Given the description of an element on the screen output the (x, y) to click on. 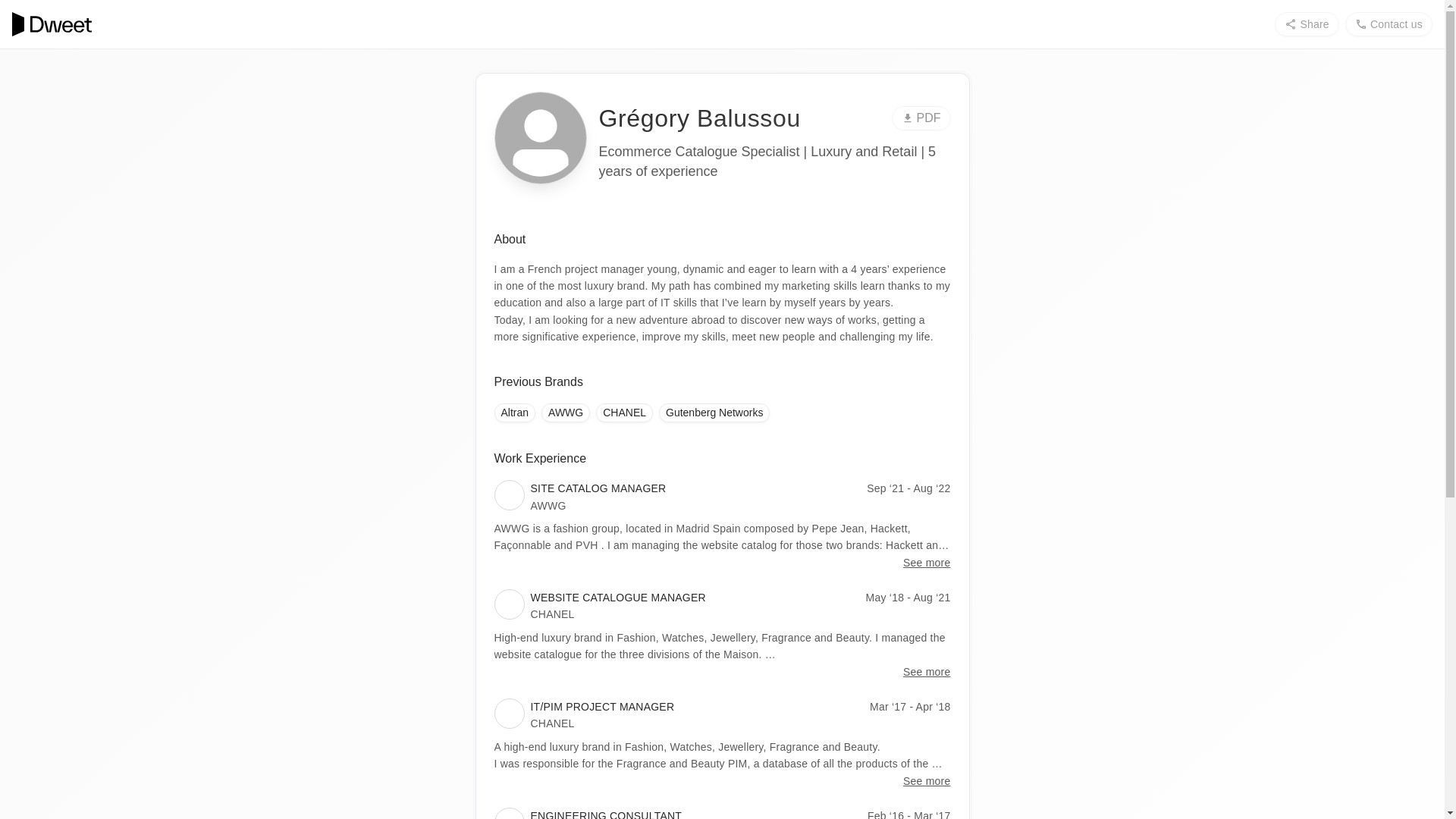
See more (926, 562)
See more (926, 781)
PDF (920, 118)
Share (1306, 24)
Contact us (1388, 24)
See more (926, 671)
